Given the description of an element on the screen output the (x, y) to click on. 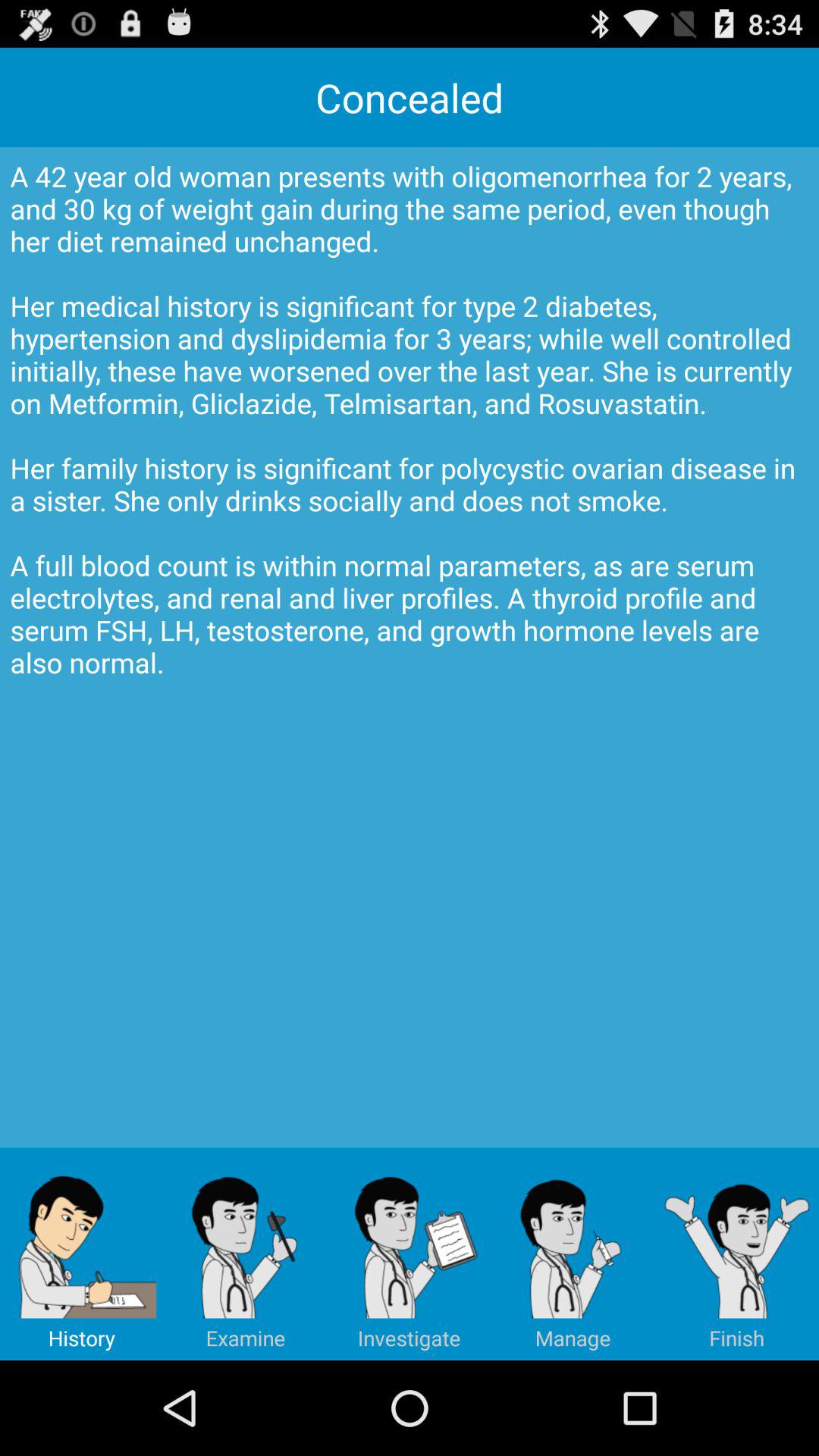
tap item below a 42 year (81, 1253)
